Given the description of an element on the screen output the (x, y) to click on. 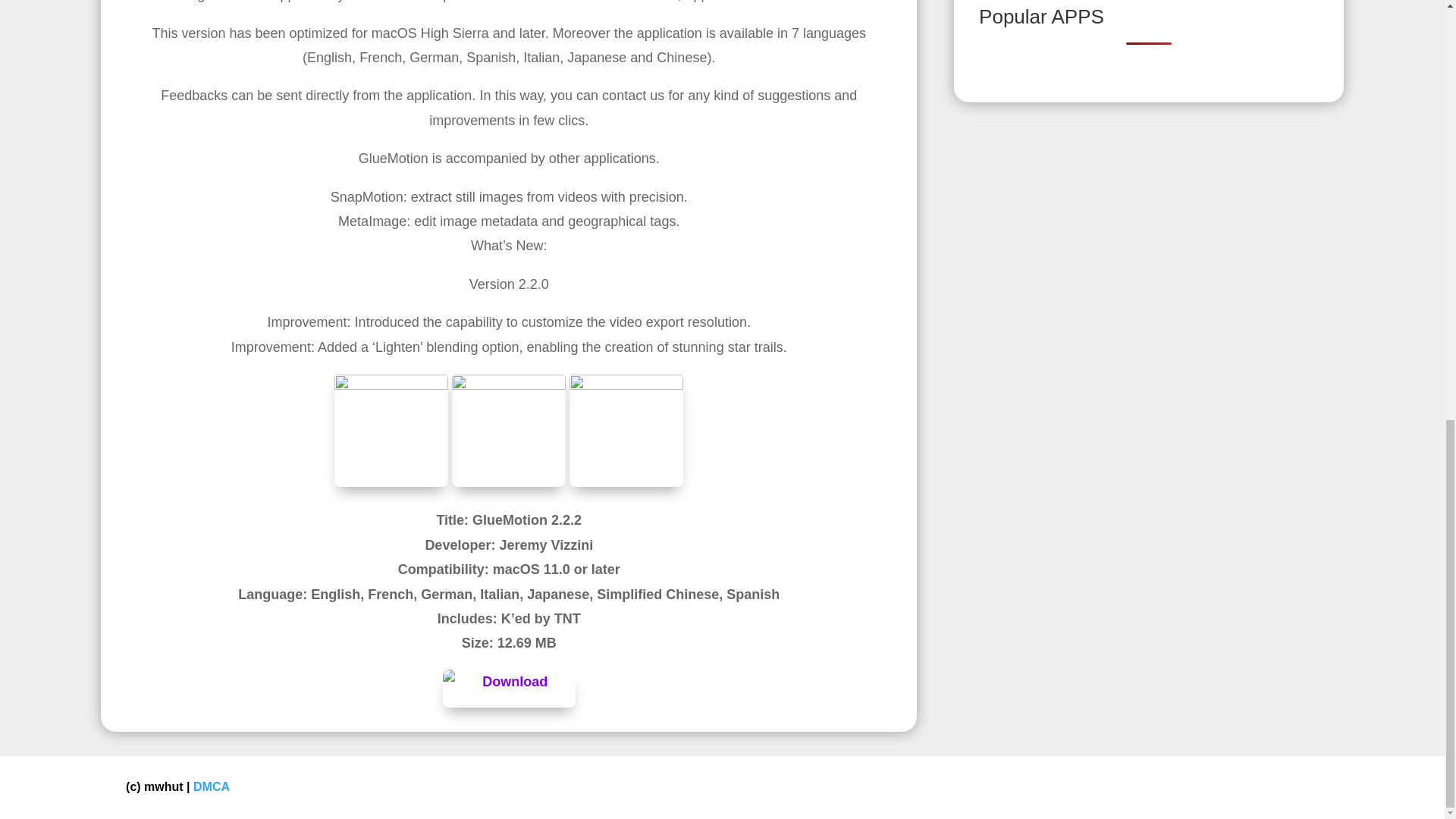
DMCA (211, 786)
